Given the description of an element on the screen output the (x, y) to click on. 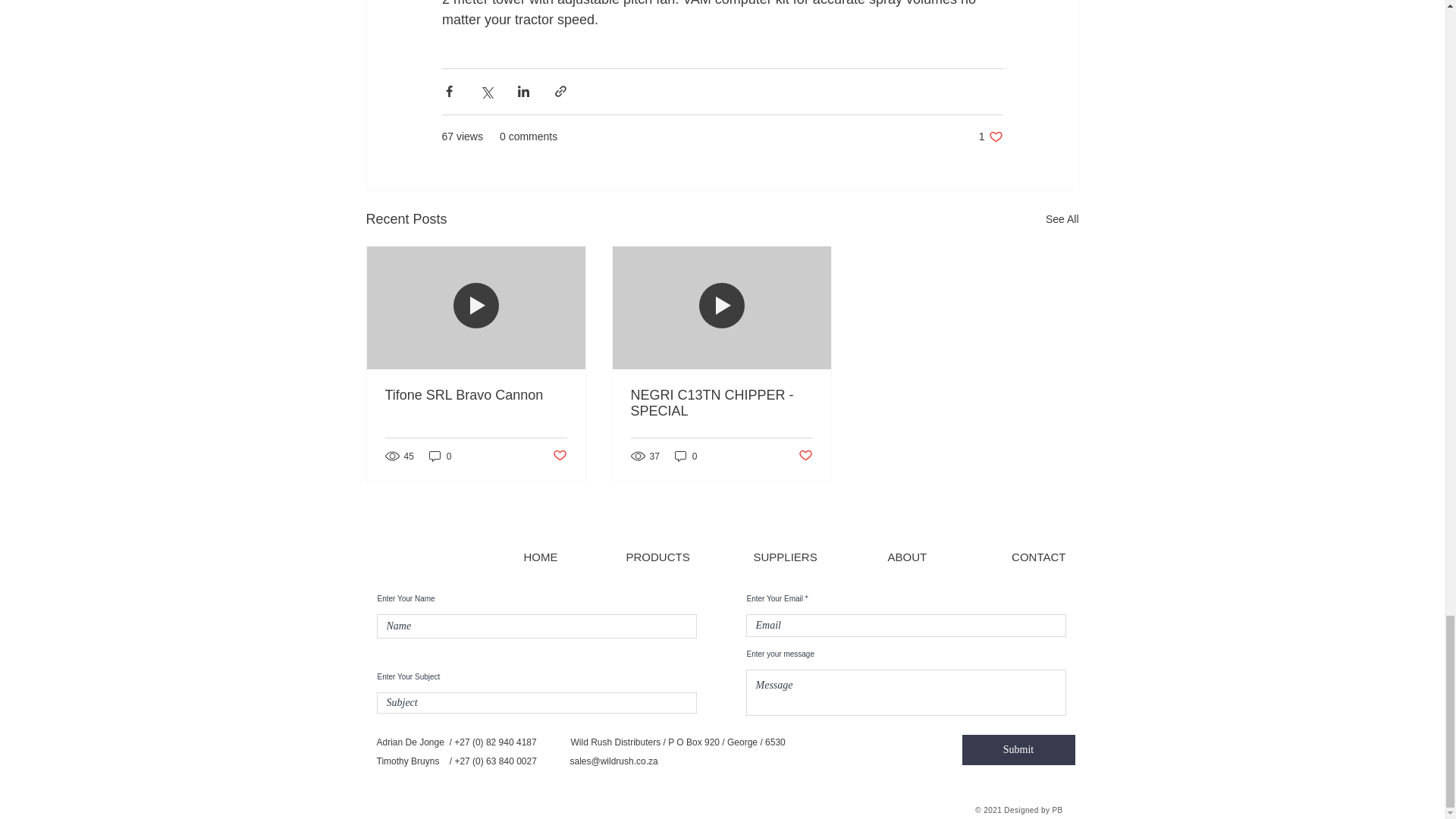
NEGRI C13TN CHIPPER - SPECIAL (721, 403)
CONTACT (1038, 556)
0 (440, 455)
PRODUCTS (658, 556)
Post not marked as liked (804, 455)
See All (990, 136)
HOME (1061, 219)
Tifone SRL Bravo Cannon (539, 556)
Submit (476, 395)
0 (1017, 749)
ABOUT (685, 455)
SUPPLIERS (906, 556)
Post not marked as liked (785, 556)
